Given the description of an element on the screen output the (x, y) to click on. 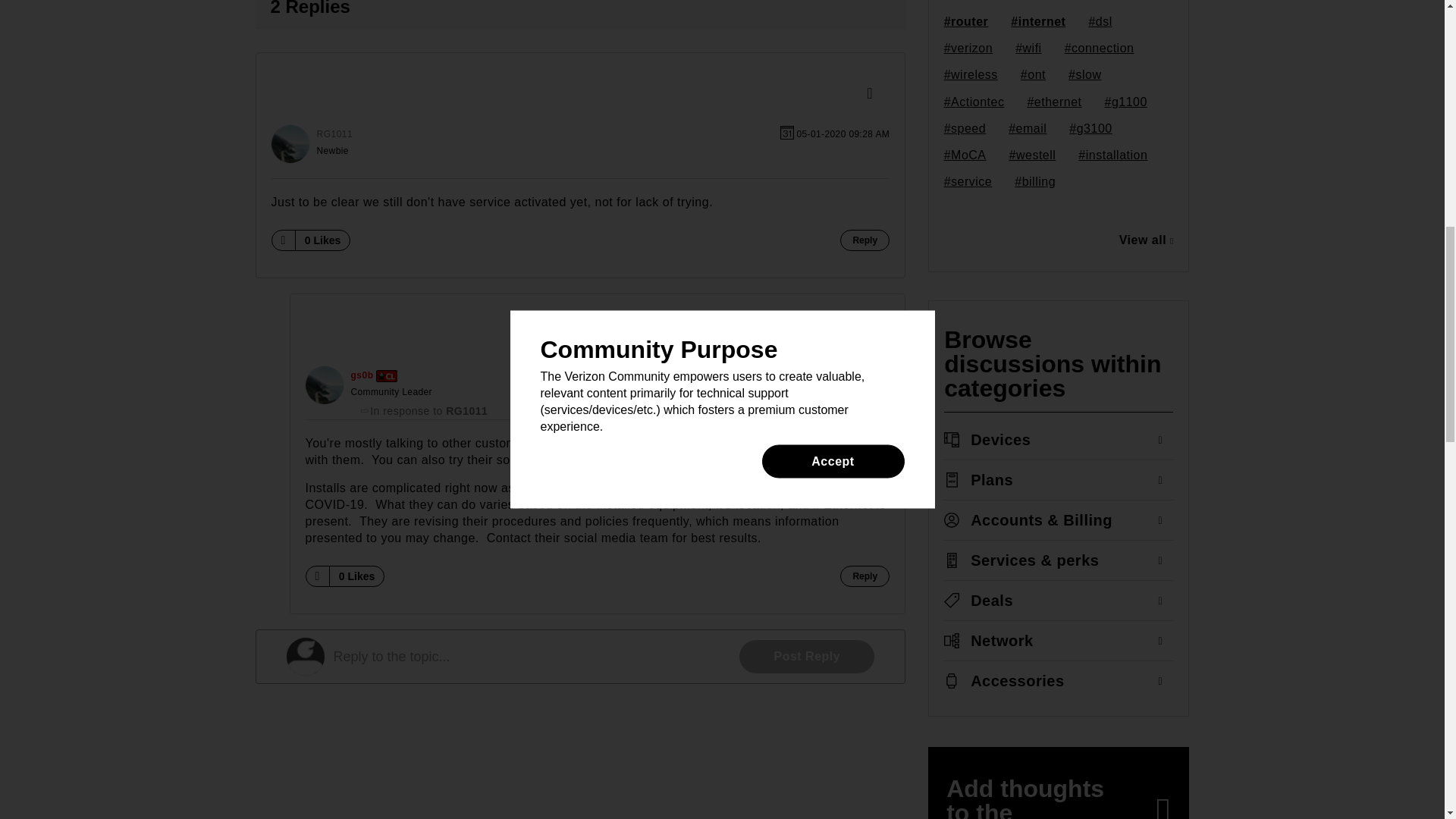
RG1011 (289, 143)
Show option menu (874, 94)
